Given the description of an element on the screen output the (x, y) to click on. 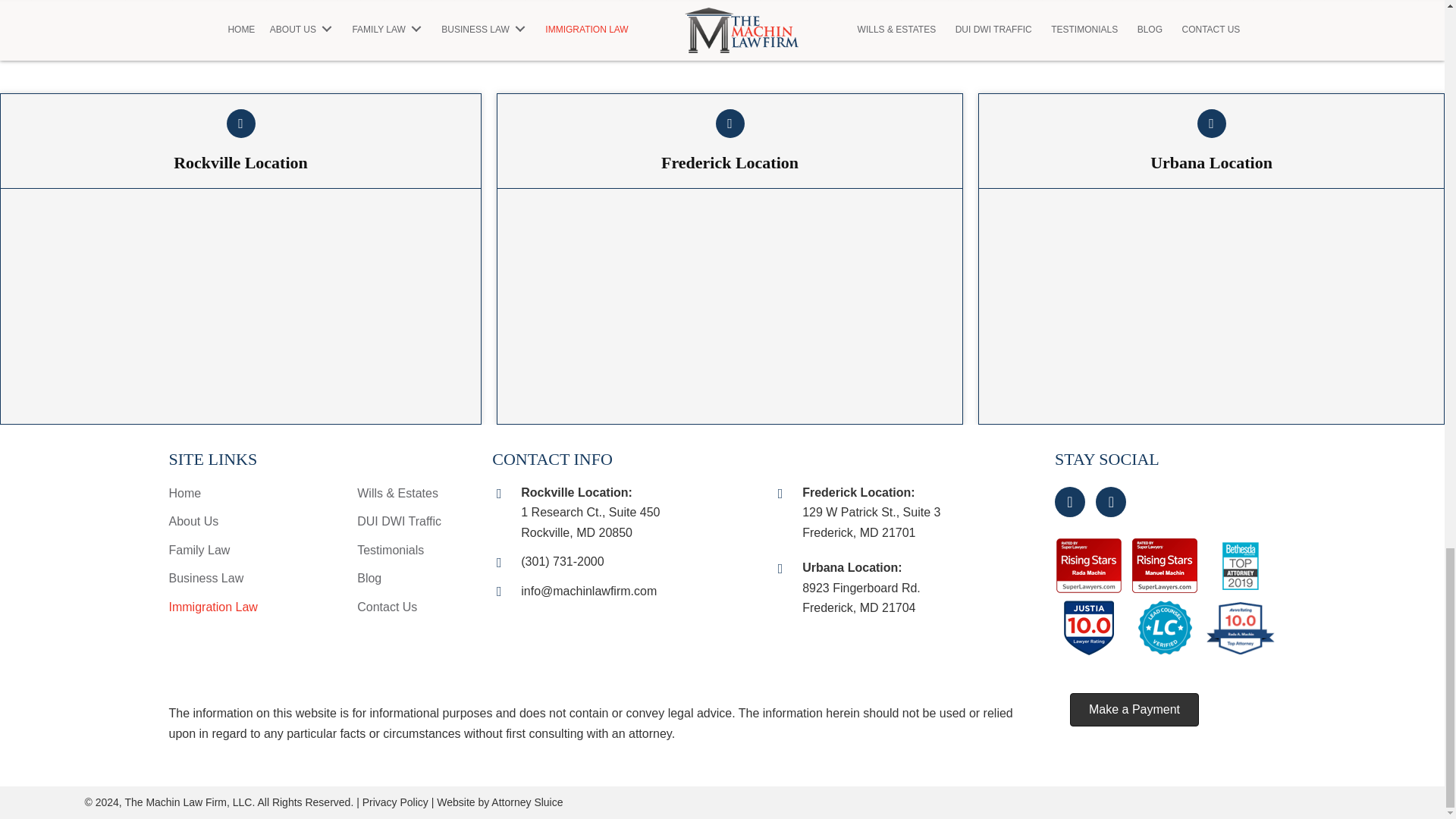
Twitter (1110, 501)
Attorney Sluice Digital Marketing (527, 802)
Facebook (1069, 501)
